Given the description of an element on the screen output the (x, y) to click on. 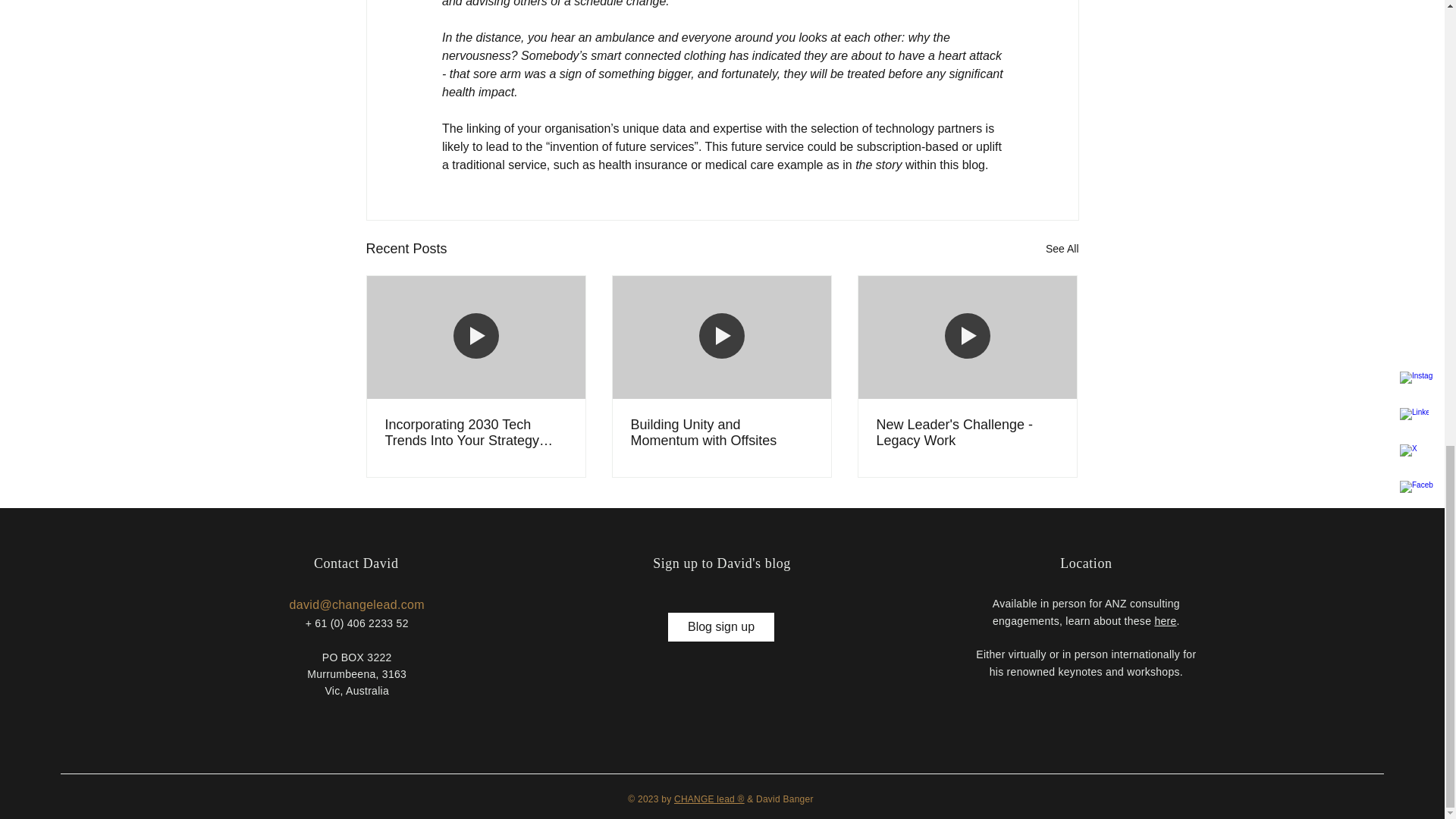
Building Unity and Momentum with Offsites (721, 432)
See All (1061, 249)
